Given the description of an element on the screen output the (x, y) to click on. 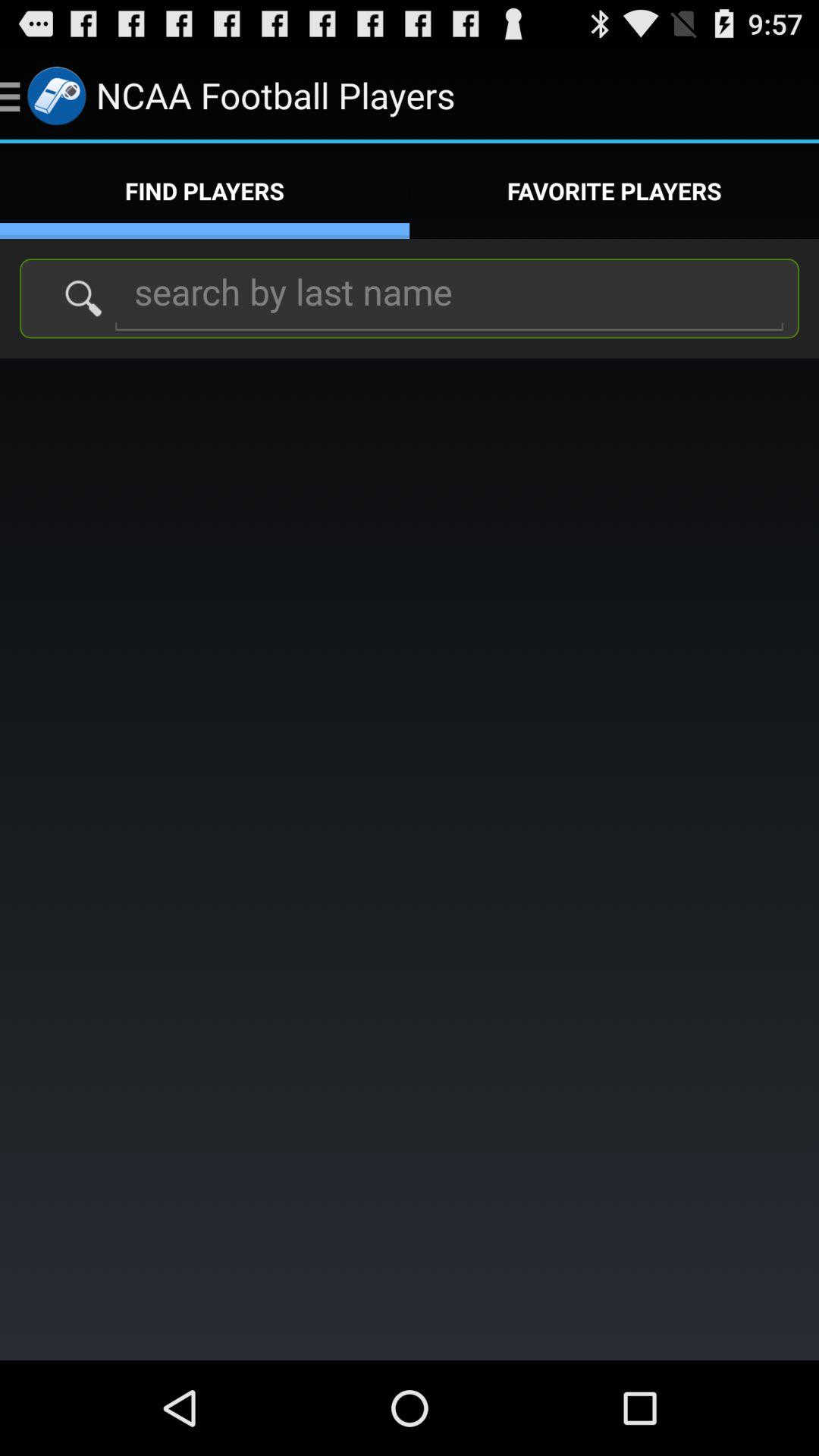
select icon next to favorite players icon (204, 190)
